Given the description of an element on the screen output the (x, y) to click on. 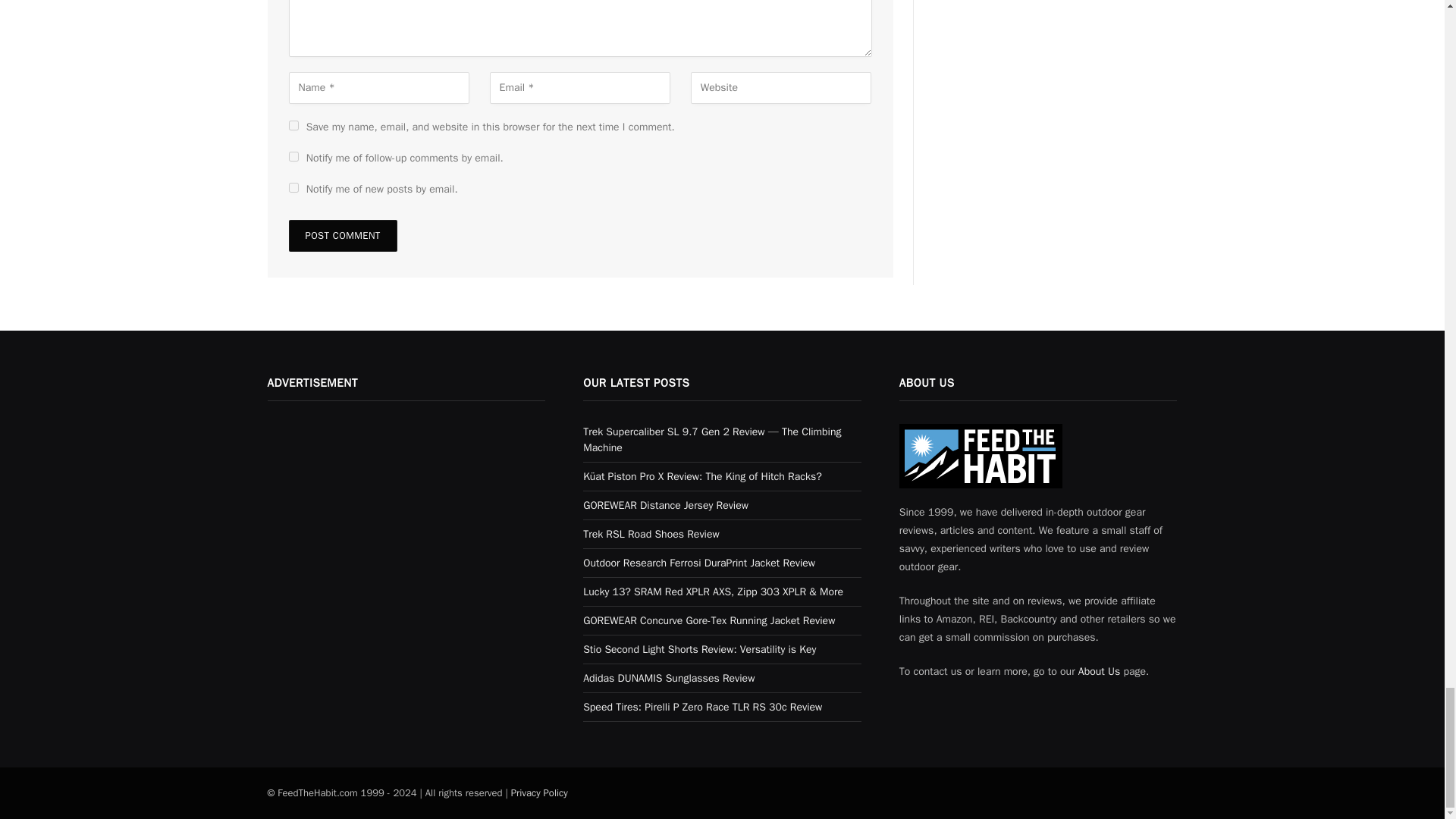
Post Comment (342, 235)
yes (293, 125)
subscribe (293, 156)
subscribe (293, 187)
